Given the description of an element on the screen output the (x, y) to click on. 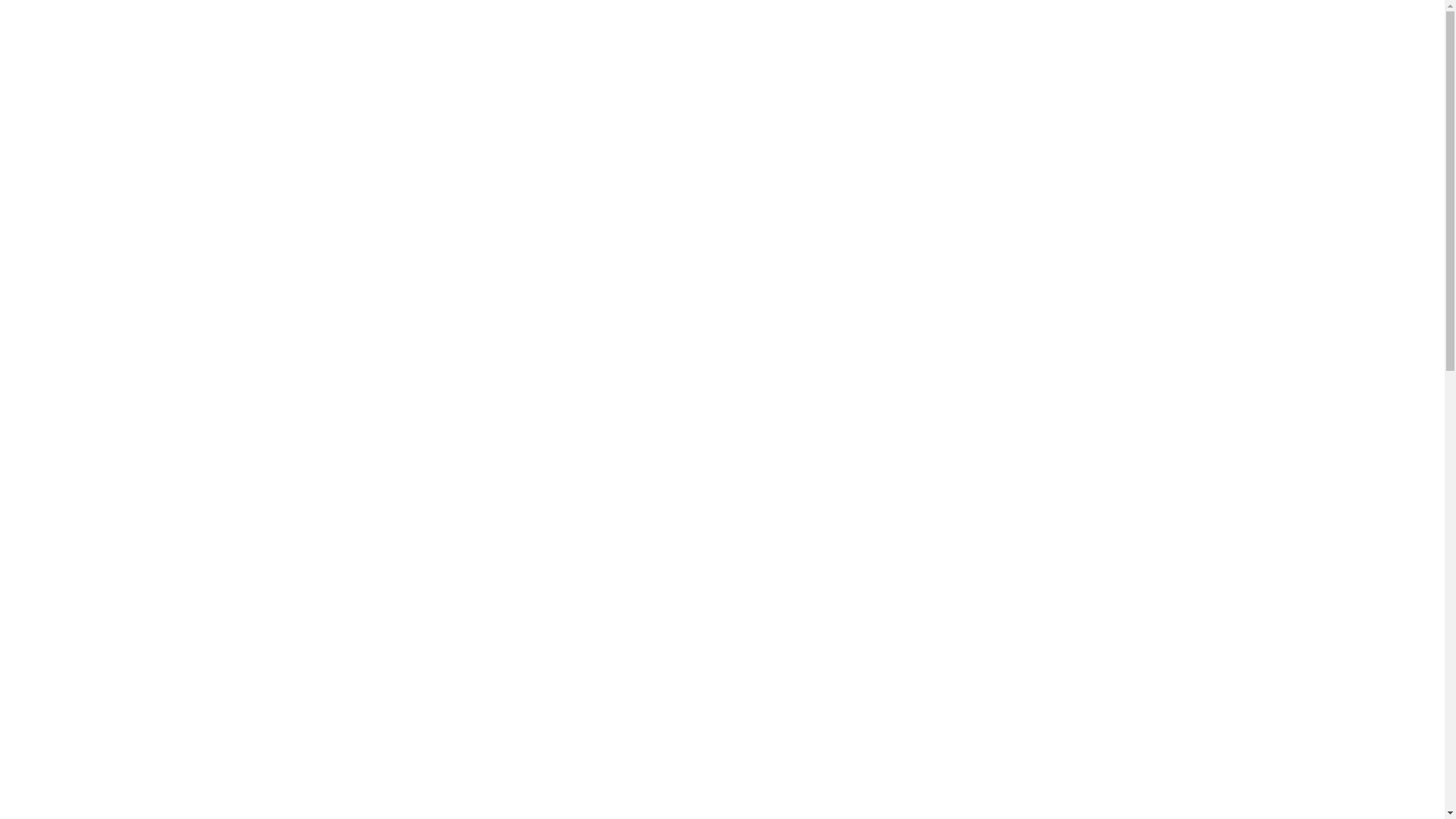
Log in Element type: text (721, 249)
